Given the description of an element on the screen output the (x, y) to click on. 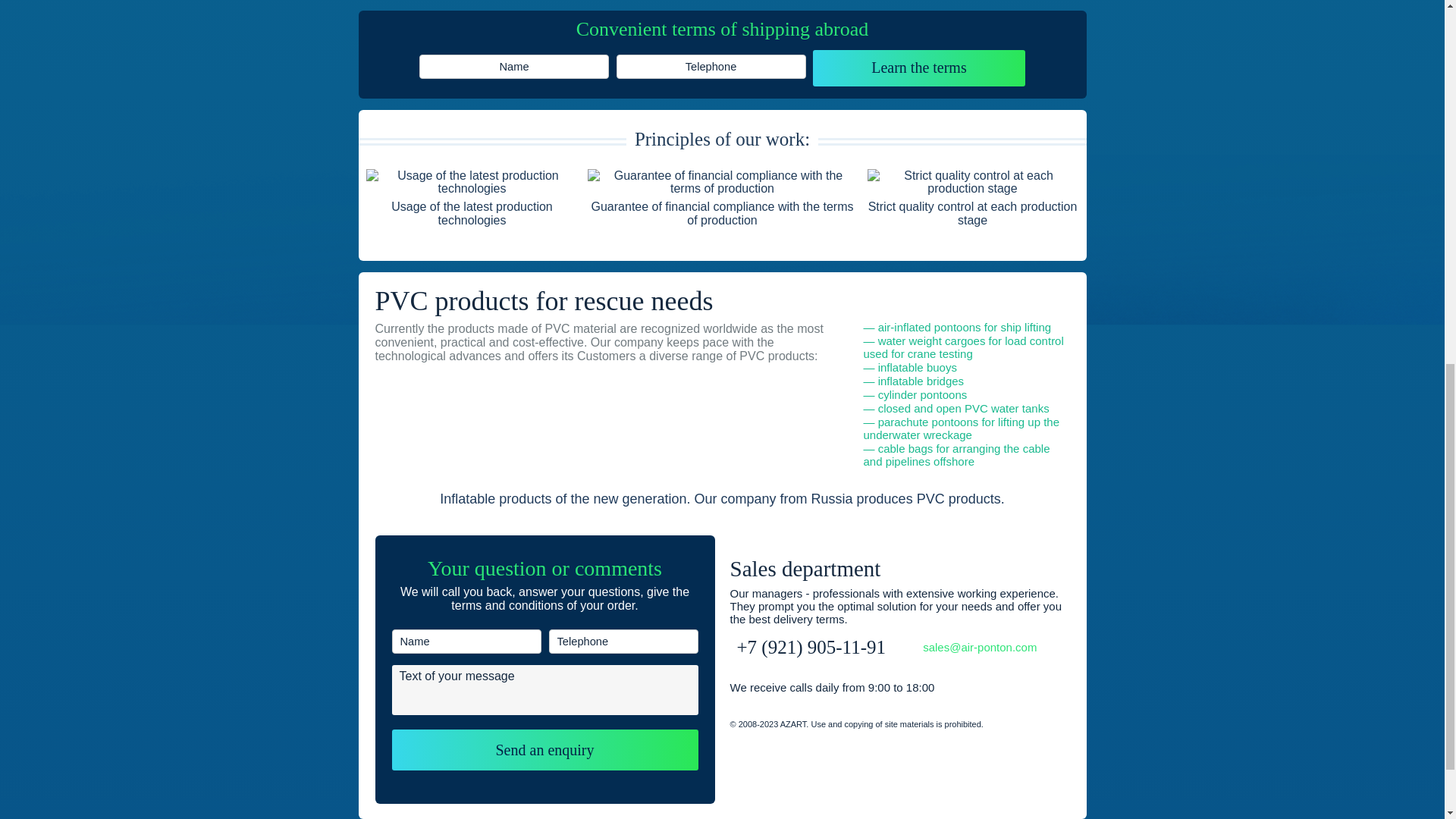
Send an enquiry (544, 749)
cylinder pontoons (922, 394)
parachute pontoons for lifting up the underwater wreckage (961, 428)
cable bags for arranging the cable and pipelines offshore (956, 454)
water weight cargoes for load control used for crane testing (962, 347)
inflatable buoys (916, 367)
air-inflated pontoons for ship lifting (964, 327)
Learn the terms (918, 67)
Usage of the latest production technologies (471, 181)
Learn the terms (918, 67)
closed and open PVC water tanks (963, 408)
Telephone (710, 66)
Send an enquiry (544, 749)
inflatable bridges (920, 380)
Name (513, 66)
